Given the description of an element on the screen output the (x, y) to click on. 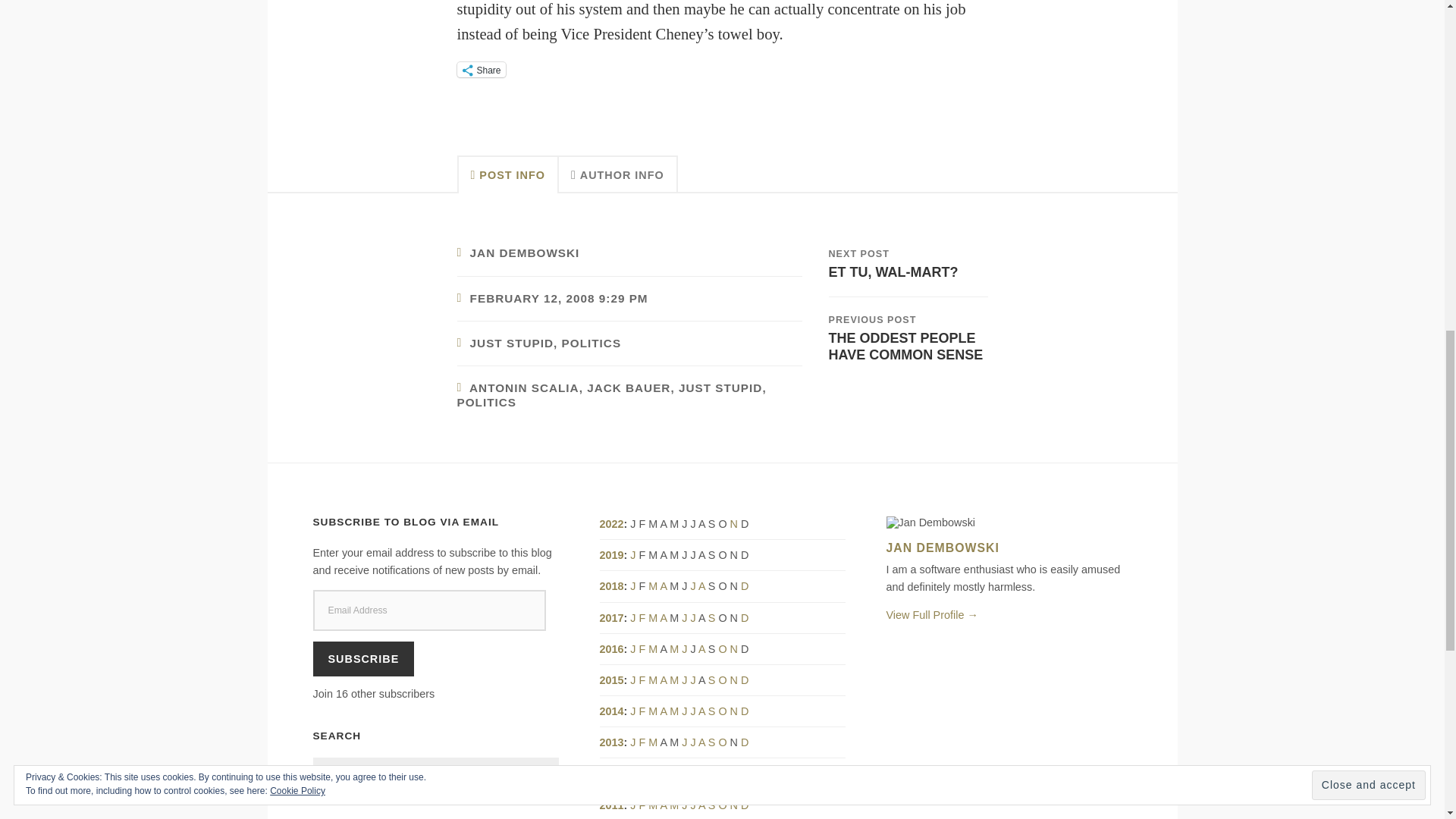
POLITICS (591, 342)
Posts by Jan Dembowski (524, 252)
POST INFO (507, 174)
Share (481, 69)
ANTONIN SCALIA (523, 387)
FEBRUARY 12, 2008 9:29 PM (558, 297)
JUST STUPID (719, 387)
JACK BAUER (627, 387)
AUTHOR INFO (618, 174)
